Given the description of an element on the screen output the (x, y) to click on. 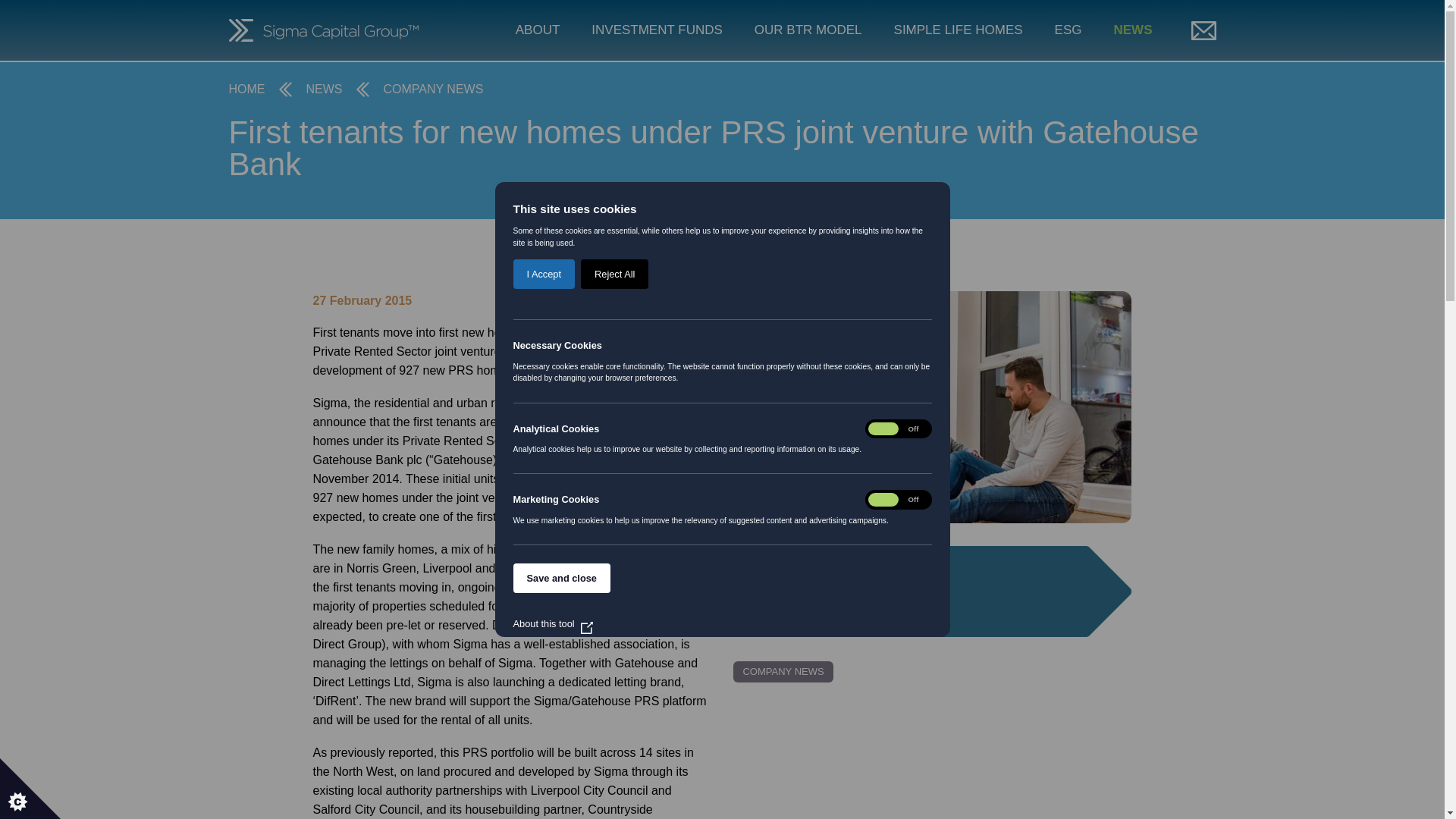
OUR BTR MODEL (807, 30)
Simple Life Homes (958, 30)
Save and close (561, 811)
I Accept (543, 758)
Go to News. (323, 89)
INVESTMENT FUNDS (656, 30)
Go to Sigma Capital. (246, 89)
Our BTR Model (807, 30)
Reject All (613, 621)
SIMPLE LIFE HOMES (958, 30)
Investment Funds (656, 30)
